Given the description of an element on the screen output the (x, y) to click on. 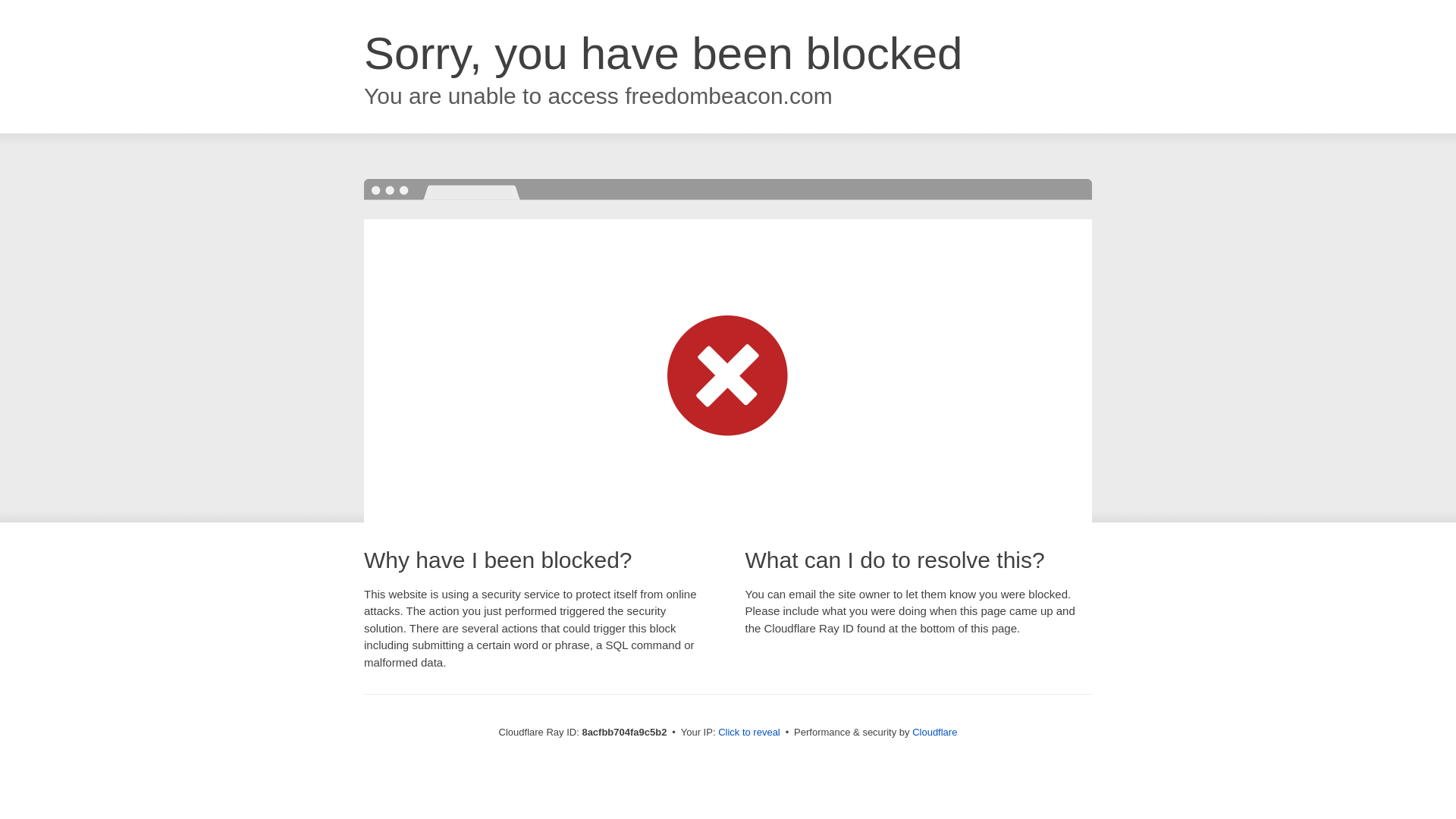
Cloudflare (934, 731)
Click to reveal (748, 732)
